Given the description of an element on the screen output the (x, y) to click on. 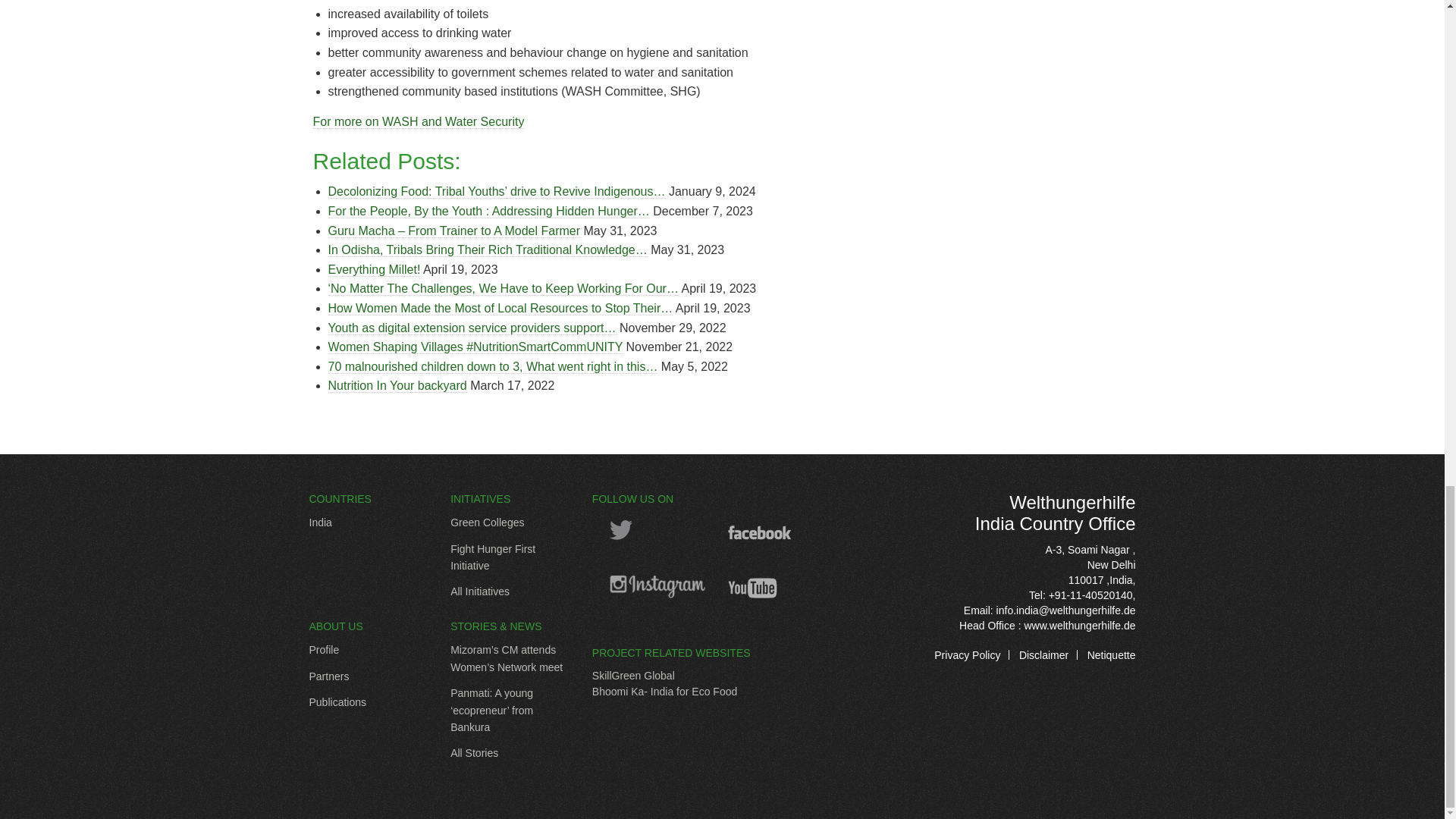
Everything Millet! (373, 269)
For more on WASH and Water Security (418, 121)
